Given the description of an element on the screen output the (x, y) to click on. 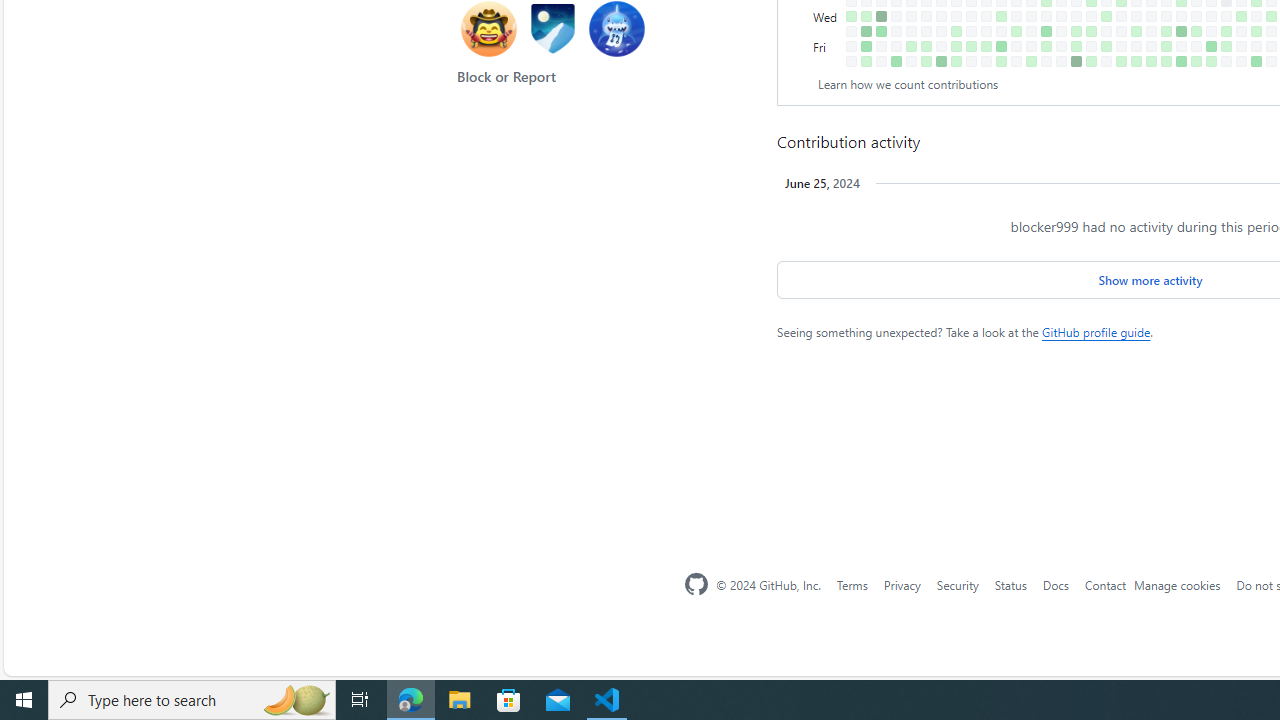
No contributions on April 11th. (1061, 30)
1 contribution on February 9th. (926, 46)
3 contributions on July 17th. (1271, 16)
1 contribution on February 23rd. (956, 46)
6 contributions on June 21st. (1211, 46)
No contributions on July 19th. (1271, 46)
3 contributions on March 13th. (1001, 16)
No contributions on April 10th. (1061, 16)
2 contributions on July 11th. (1256, 30)
Manage cookies (1177, 584)
No contributions on May 4th. (1106, 61)
No contributions on May 2nd. (1106, 30)
No contributions on March 14th. (1001, 30)
No contributions on June 14th. (1195, 46)
2 contributions on March 21st. (1016, 30)
